Given the description of an element on the screen output the (x, y) to click on. 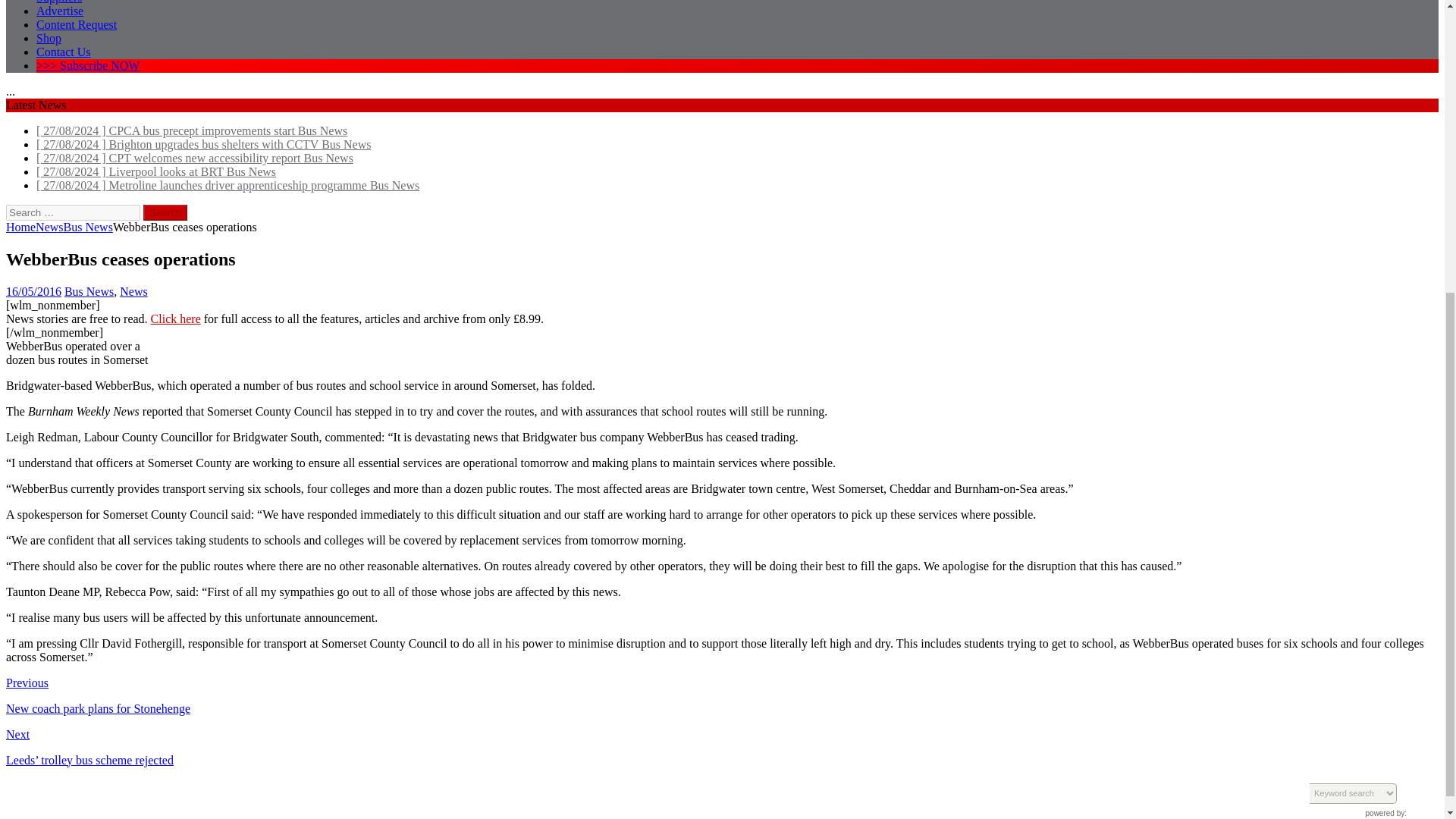
Liverpool looks at BRT (156, 171)
CPT welcomes new accessibility report (194, 157)
Suppliers (58, 2)
Shop (48, 38)
Contact Us (63, 51)
Search (164, 212)
Content Request (76, 24)
Brighton upgrades bus shelters with CCTV (203, 144)
Metroline launches driver apprenticeship programme (227, 185)
Advertise (59, 10)
